Given the description of an element on the screen output the (x, y) to click on. 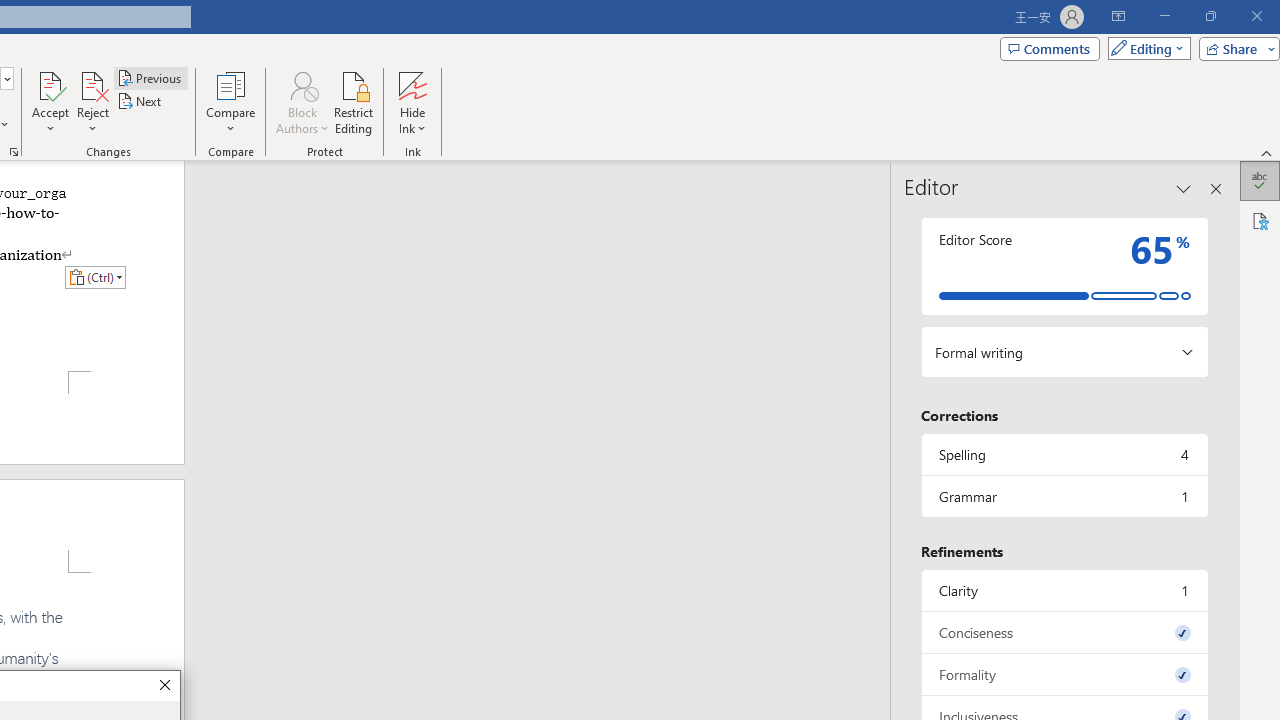
Clarity, 1 issue. Press space or enter to review items. (1064, 590)
Reject and Move to Next (92, 84)
Restrict Editing (353, 102)
Change Tracking Options... (13, 151)
Next (140, 101)
Editor Score 65% (1064, 266)
Accept and Move to Next (50, 84)
Accept (50, 102)
Formality, 0 issues. Press space or enter to review items. (1064, 673)
